Given the description of an element on the screen output the (x, y) to click on. 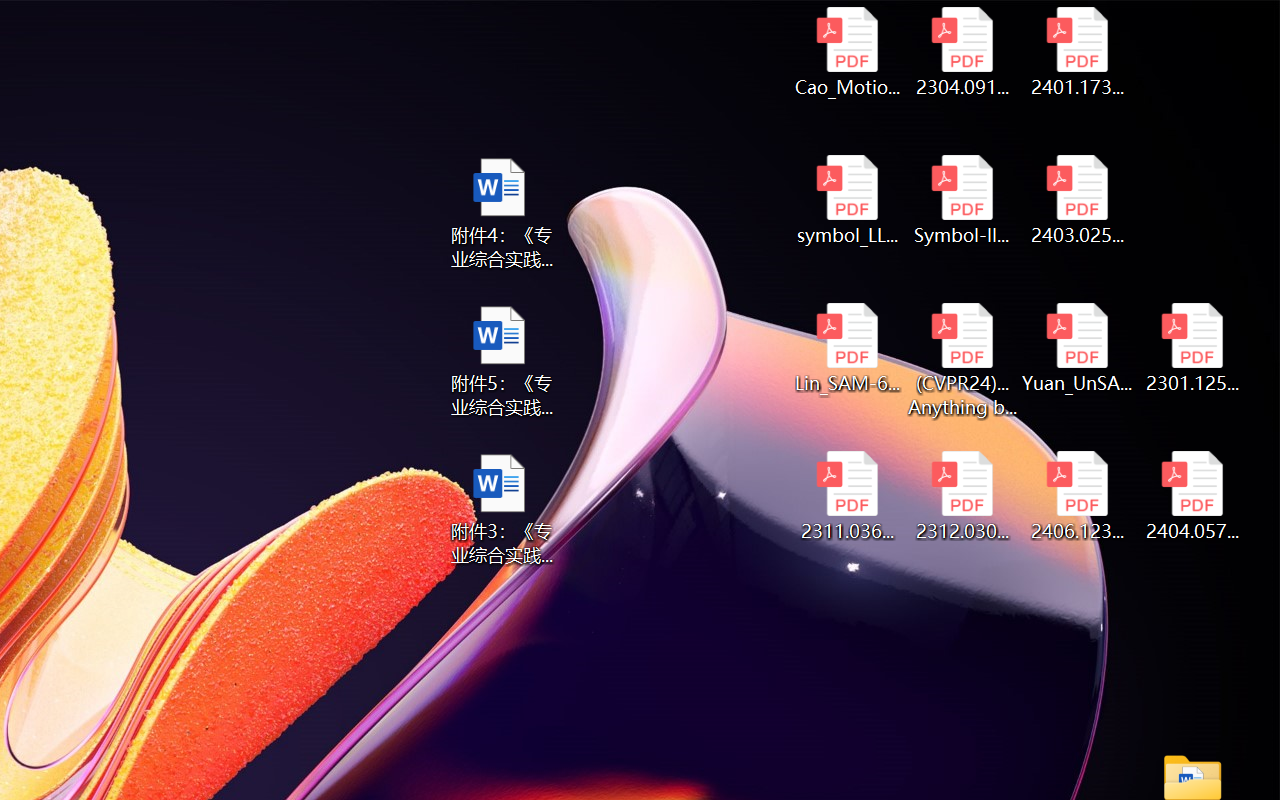
2401.17399v1.pdf (1077, 52)
2301.12597v3.pdf (1192, 348)
2311.03658v2.pdf (846, 496)
2312.03032v2.pdf (962, 496)
2403.02502v1.pdf (1077, 200)
2304.09121v3.pdf (962, 52)
symbol_LLM.pdf (846, 200)
Symbol-llm-v2.pdf (962, 200)
(CVPR24)Matching Anything by Segmenting Anything.pdf (962, 360)
